Given the description of an element on the screen output the (x, y) to click on. 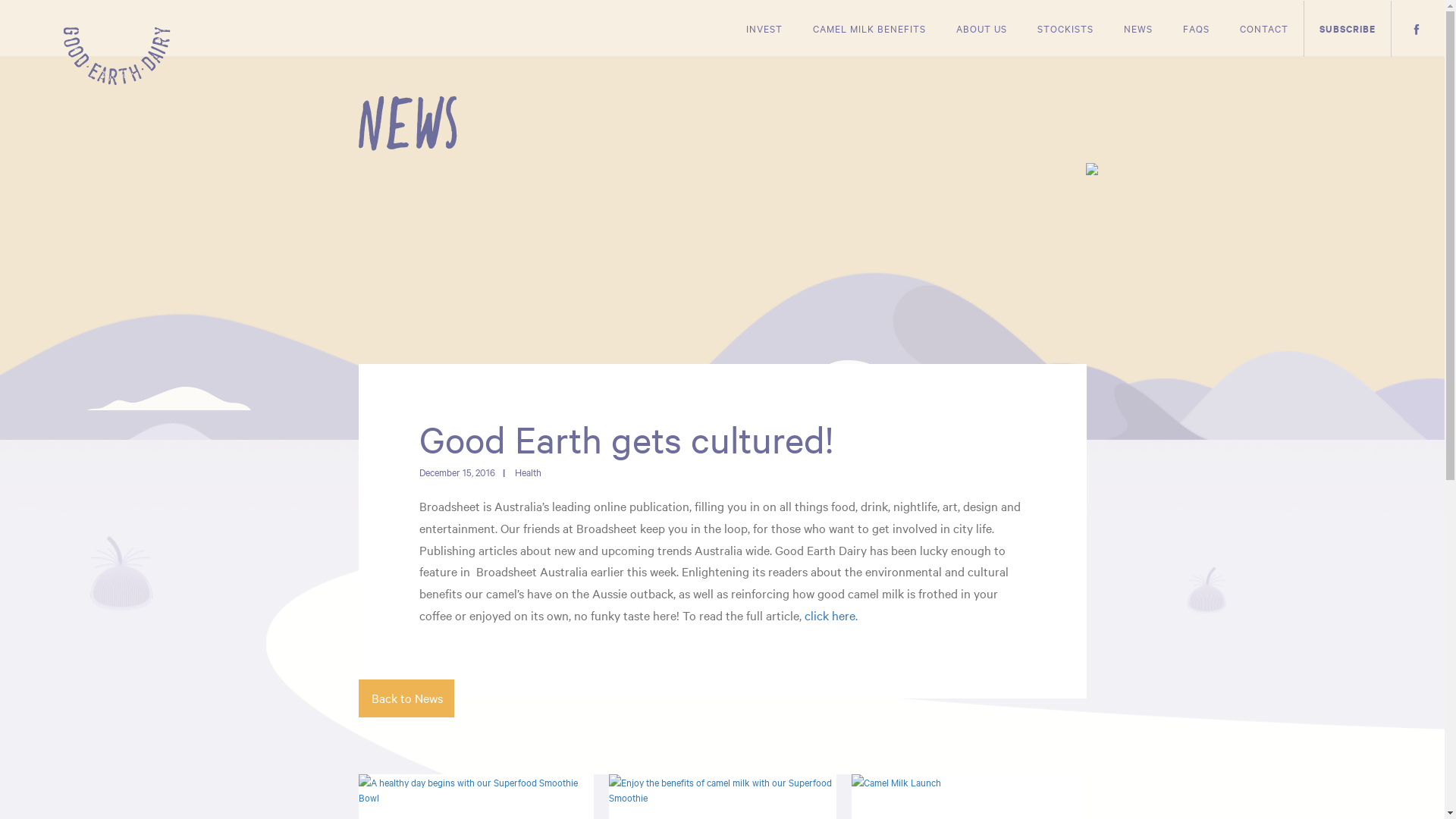
Back to News Element type: text (405, 698)
click here.  Element type: text (831, 614)
Health Element type: text (531, 471)
